Given the description of an element on the screen output the (x, y) to click on. 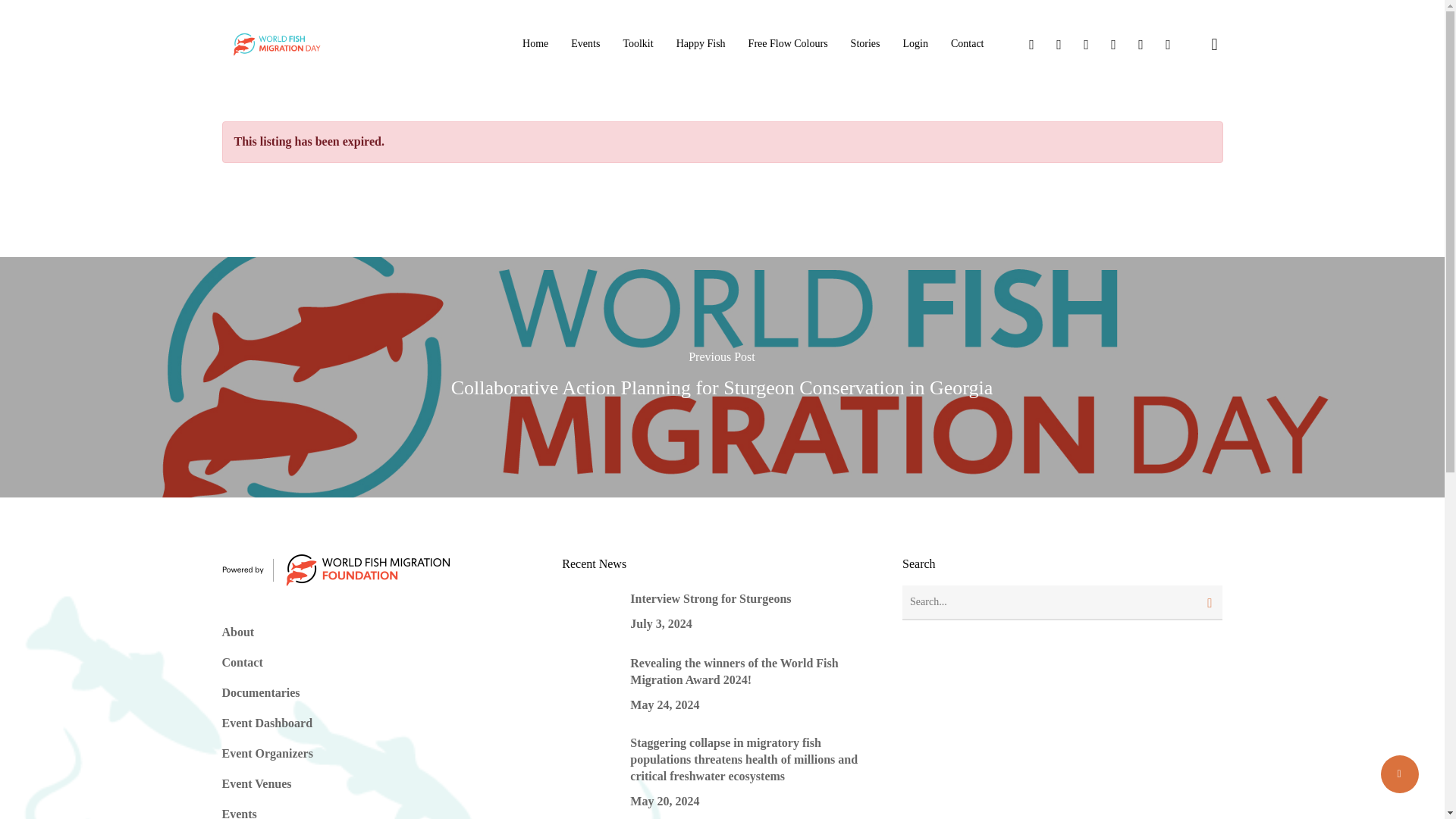
Stories (865, 43)
Documentaries (260, 692)
Event Organizers (267, 753)
Free Flow Colours (788, 43)
Toolkit (637, 43)
Login (914, 43)
Events (584, 43)
Happy Fish (701, 43)
Event Dashboard (267, 722)
Home (535, 43)
Contact (241, 662)
About (237, 631)
Search for: (1062, 602)
Contact (967, 43)
